Given the description of an element on the screen output the (x, y) to click on. 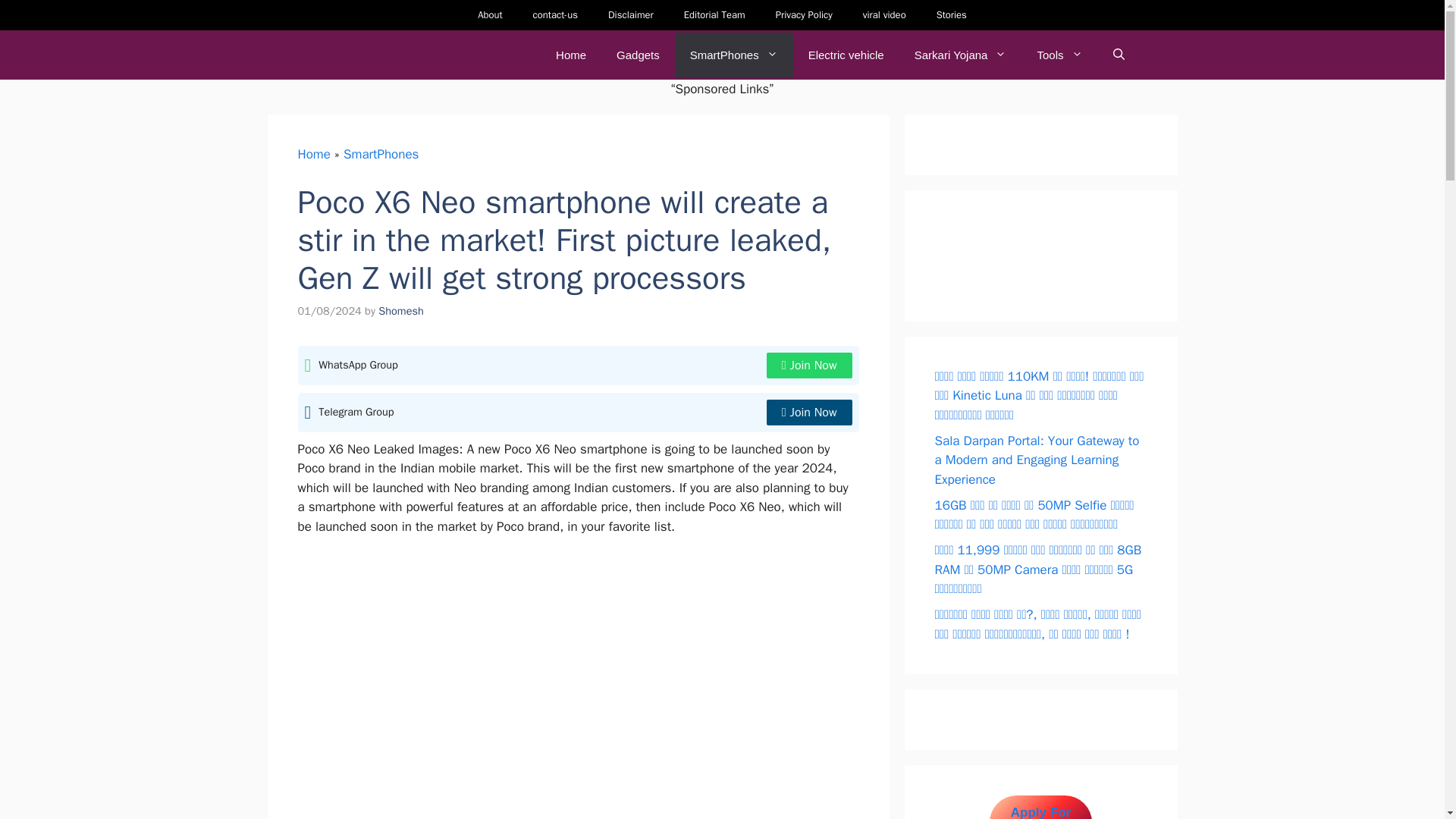
SmartPhones (734, 53)
Editorial Team (714, 15)
About (489, 15)
Gadget Update (377, 54)
Join Now (809, 365)
Stories (951, 15)
Join Now (809, 412)
Home (313, 153)
Shomesh (400, 310)
Gadgets (638, 53)
View all posts by Shomesh (400, 310)
Tools (1059, 53)
Disclaimer (630, 15)
SmartPhones (381, 153)
Home (570, 53)
